Given the description of an element on the screen output the (x, y) to click on. 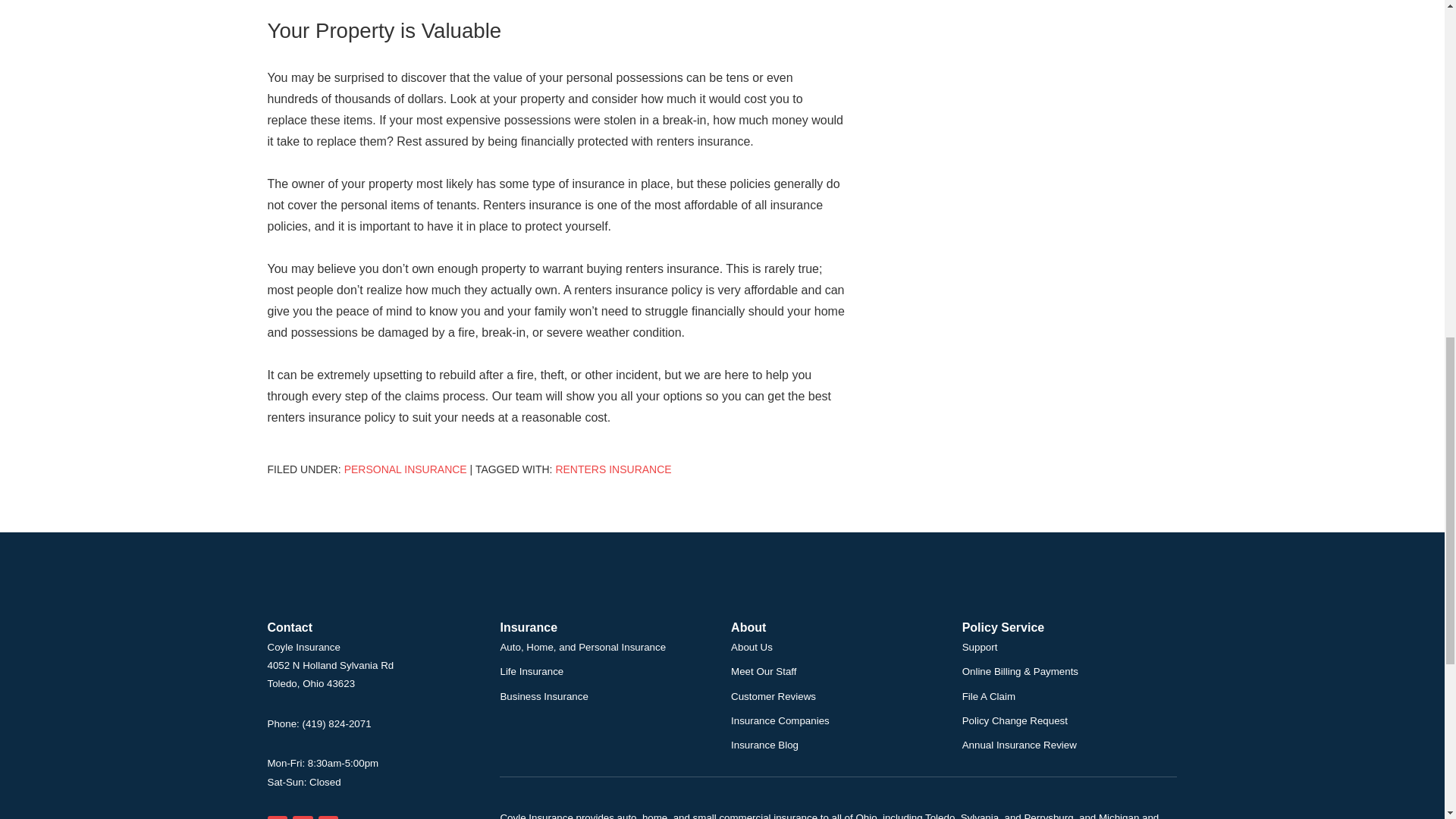
Google Maps (276, 817)
Renters Insurance (612, 469)
Yelp (302, 817)
Facebook (328, 817)
Personal Insurance (405, 469)
